Given the description of an element on the screen output the (x, y) to click on. 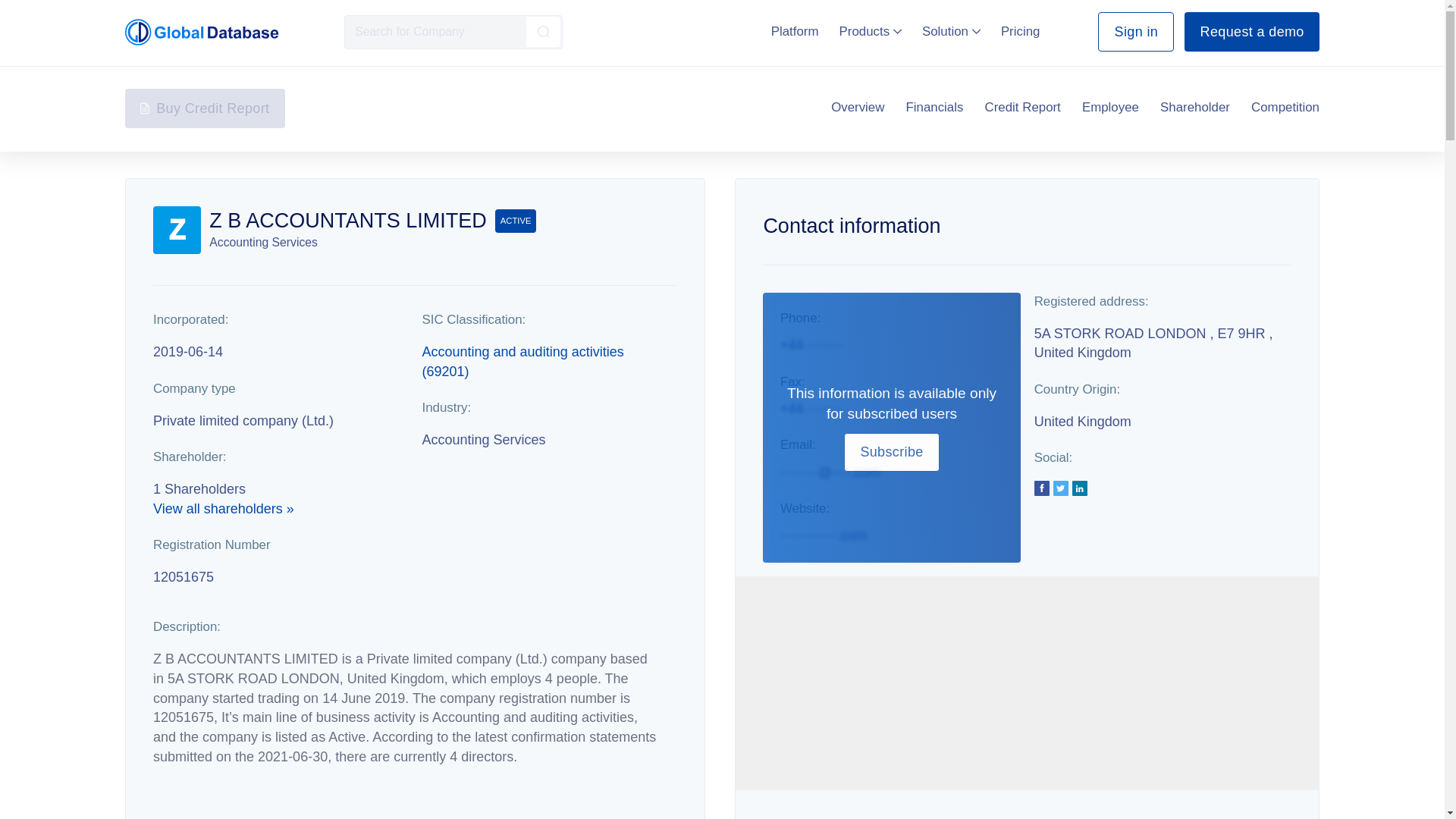
Overview (857, 107)
Financials (934, 107)
Buy Credit Report (205, 107)
Employee (1109, 107)
Credit Report (1023, 107)
Platform (794, 31)
Shareholder (1195, 107)
Sign in (1135, 31)
Pricing (1021, 31)
Request a demo (1252, 31)
